Given the description of an element on the screen output the (x, y) to click on. 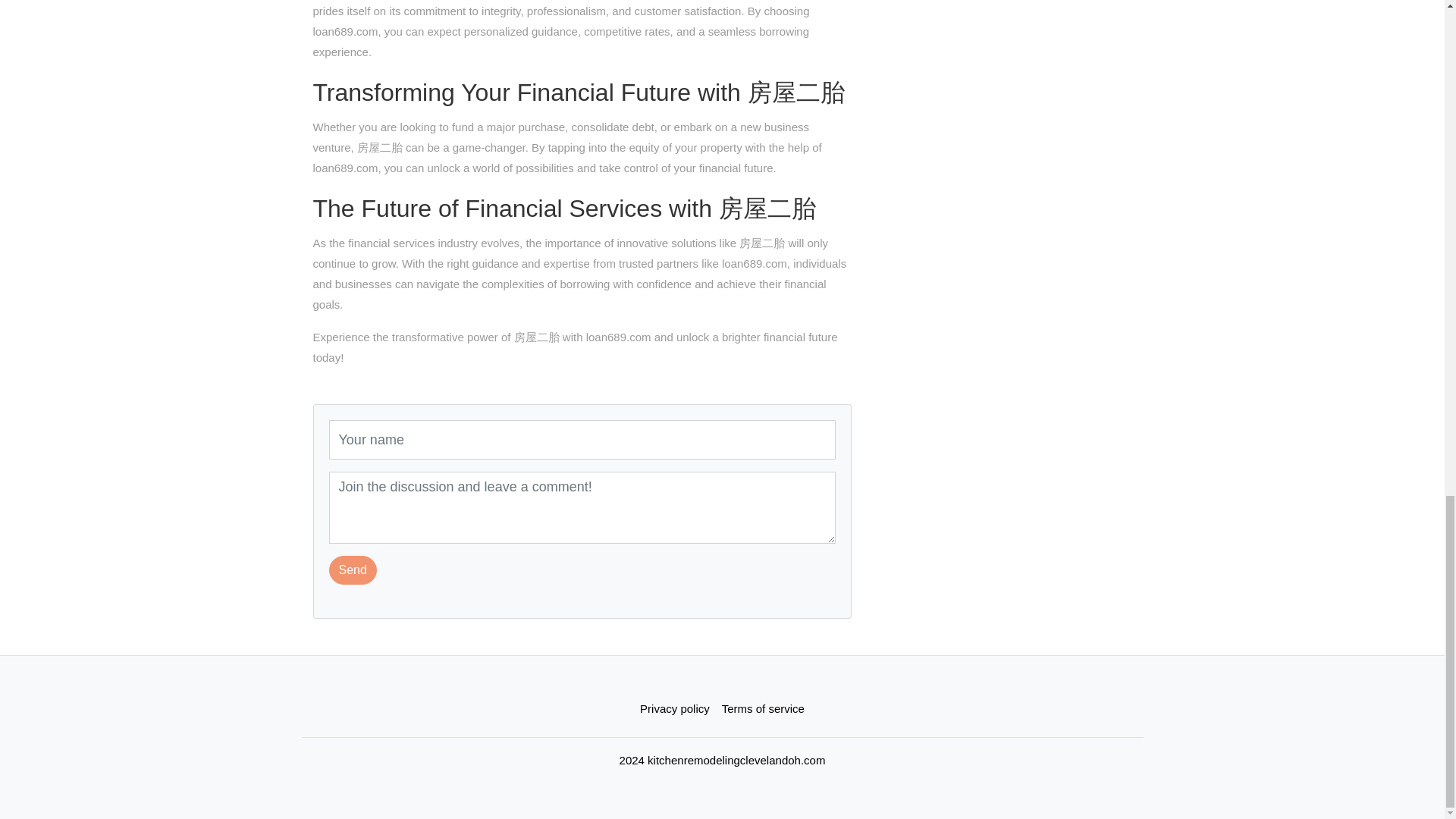
Terms of service (763, 708)
Send (353, 570)
Send (353, 570)
Privacy policy (674, 708)
